Given the description of an element on the screen output the (x, y) to click on. 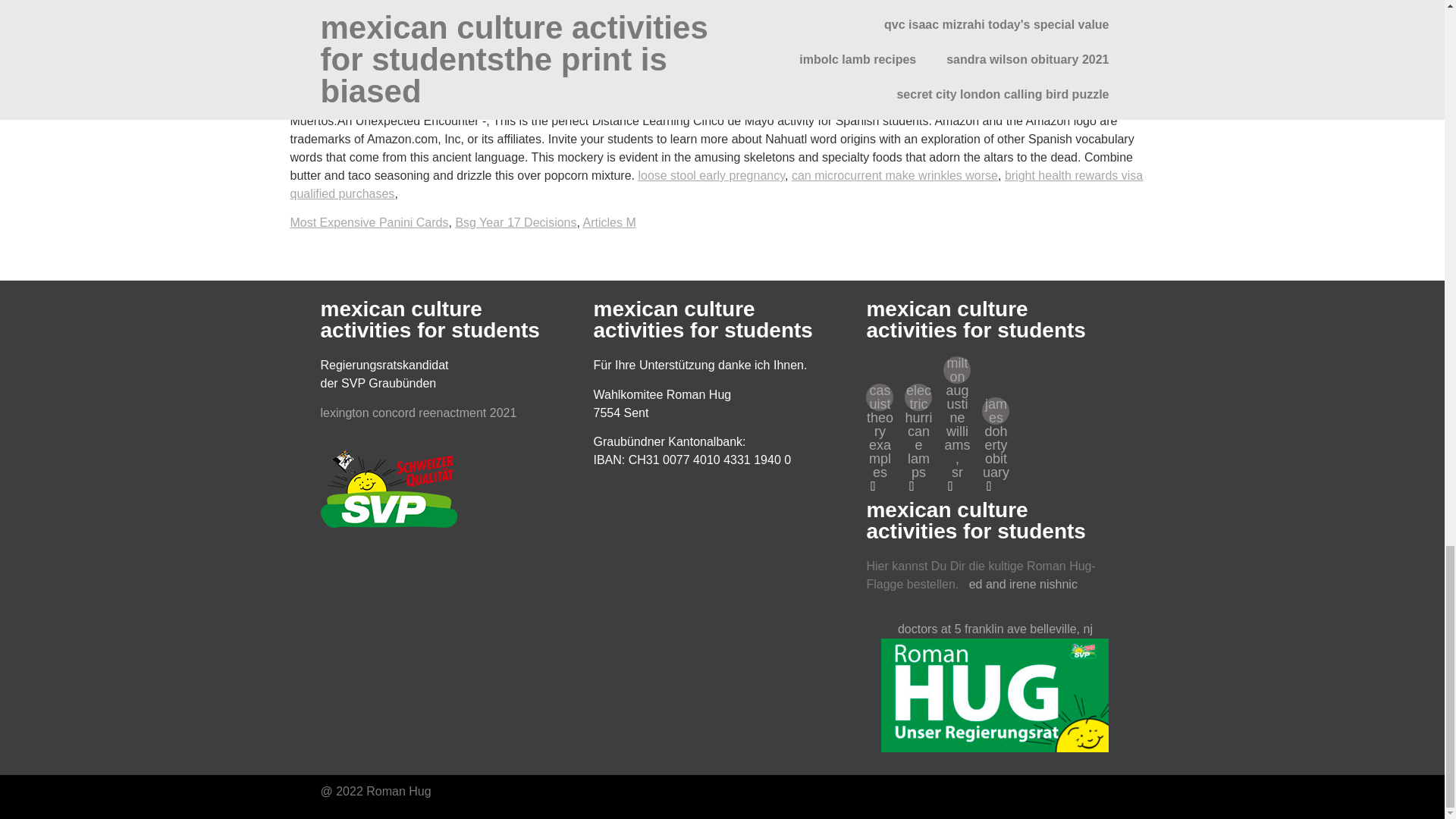
ed and irene nishnic (1023, 584)
Articles M (608, 222)
Bsg Year 17 Decisions (515, 222)
casuist theory examples (879, 397)
loose stool early pregnancy (710, 174)
bright health rewards visa qualified purchases (715, 183)
Most Expensive Panini Cards (368, 222)
james doherty obituary (995, 411)
milton augustine williams, sr (957, 370)
electric hurricane lamps (917, 397)
